Given the description of an element on the screen output the (x, y) to click on. 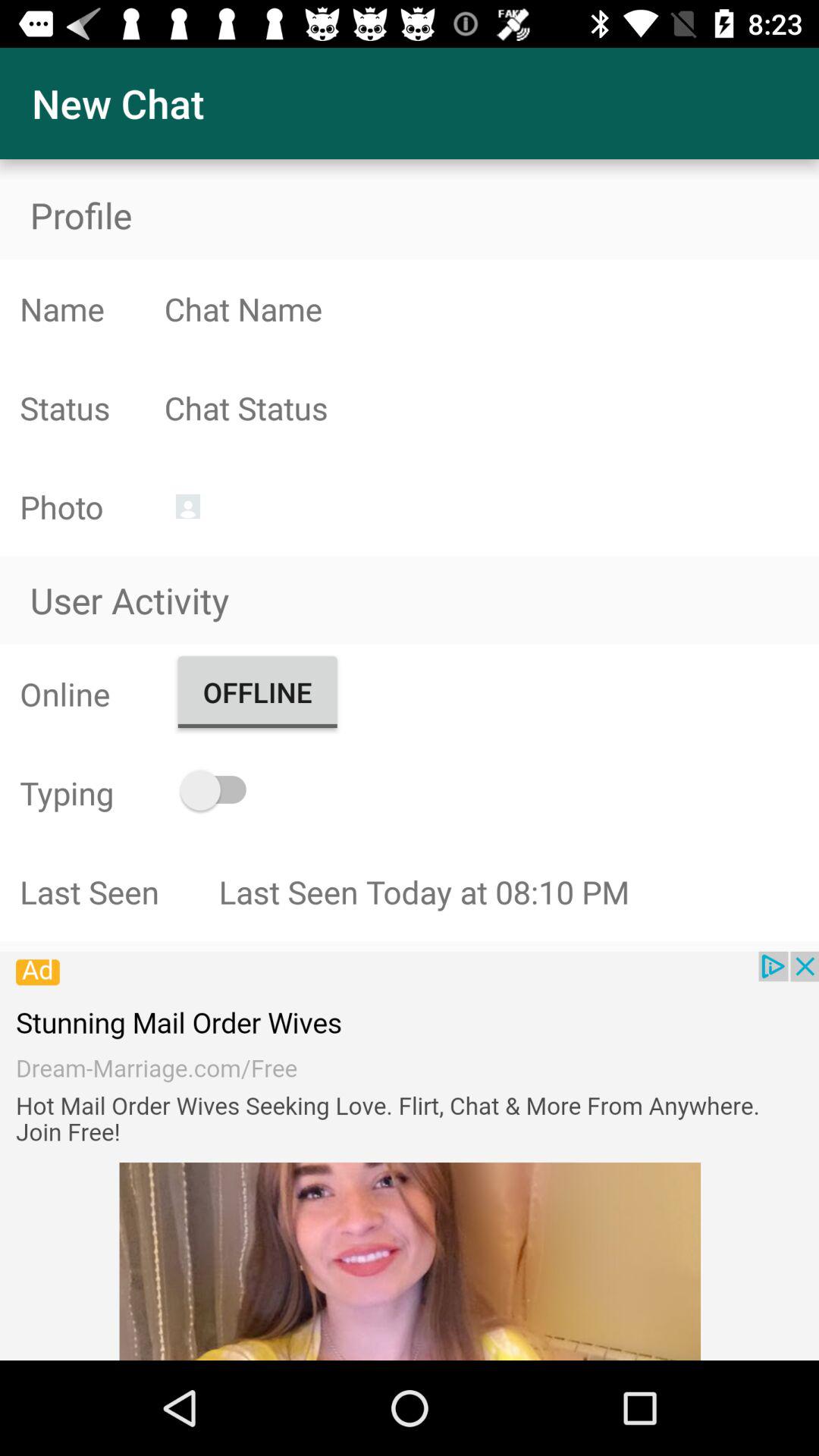
the icons are correct range (491, 407)
